Given the description of an element on the screen output the (x, y) to click on. 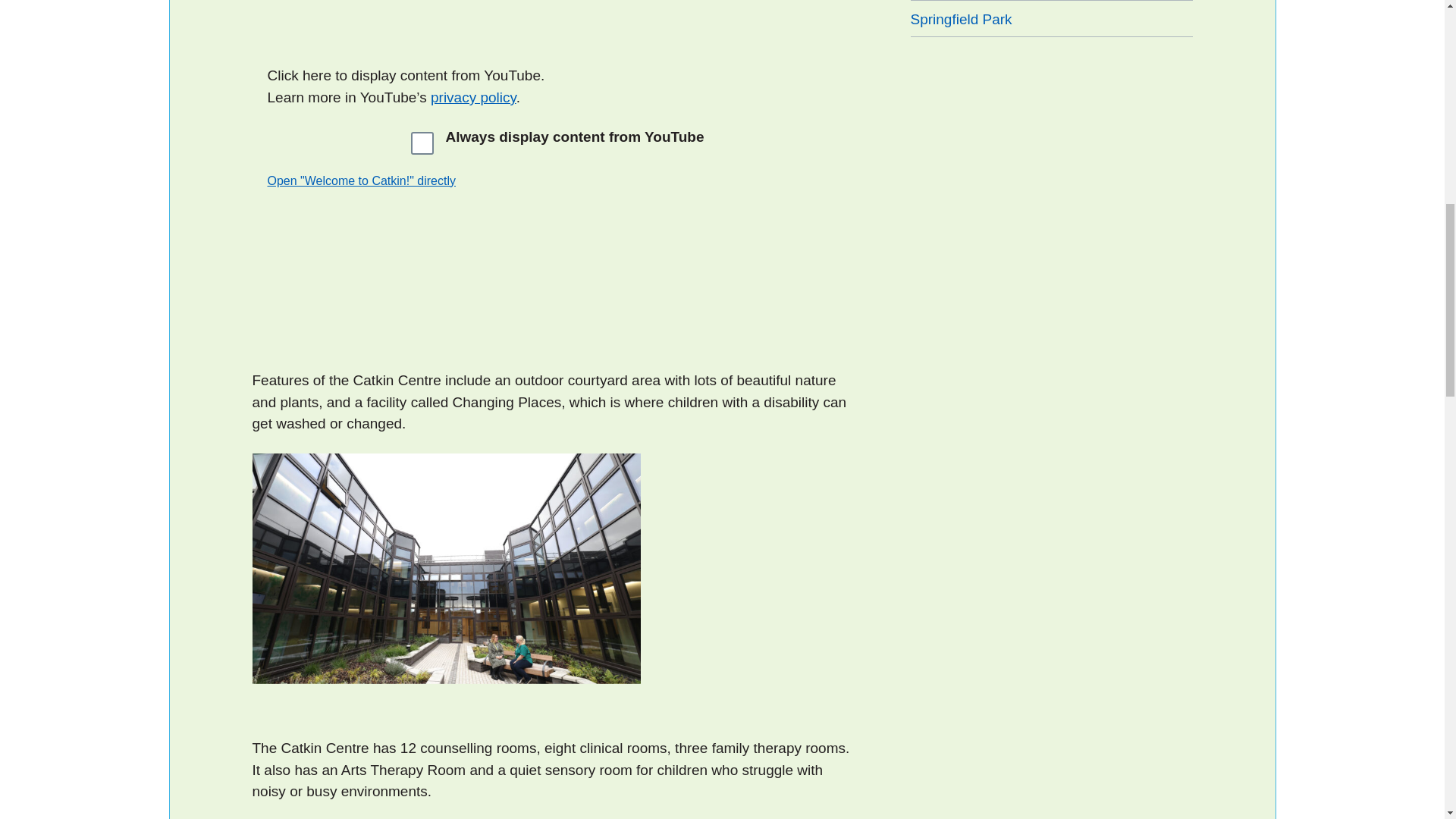
1 (421, 142)
